Given the description of an element on the screen output the (x, y) to click on. 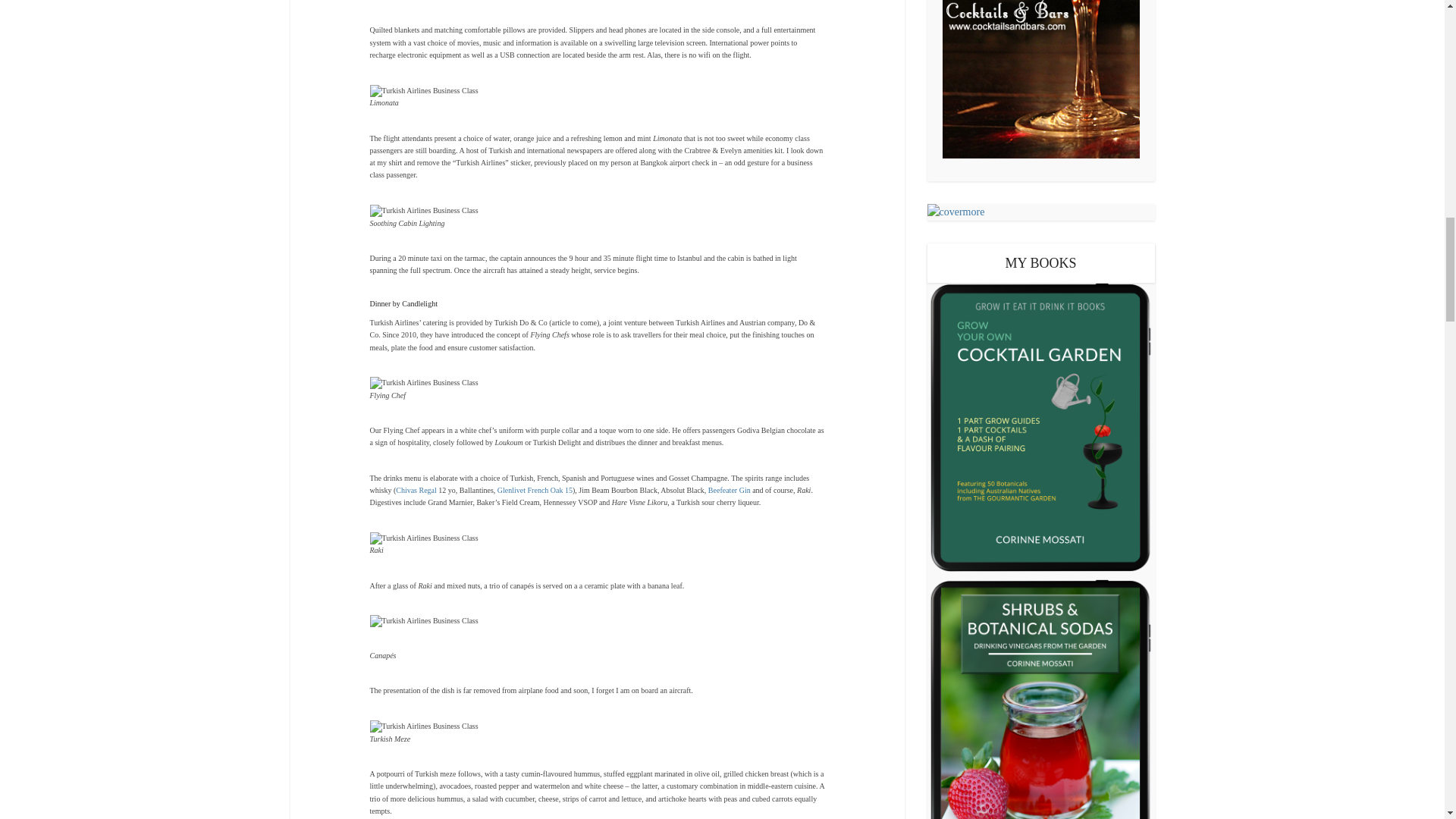
Chivas Regal Tasting with James Buntin at Lotus (416, 490)
Beefeater 24 Global Bartender Competition 2013 (729, 490)
